Given the description of an element on the screen output the (x, y) to click on. 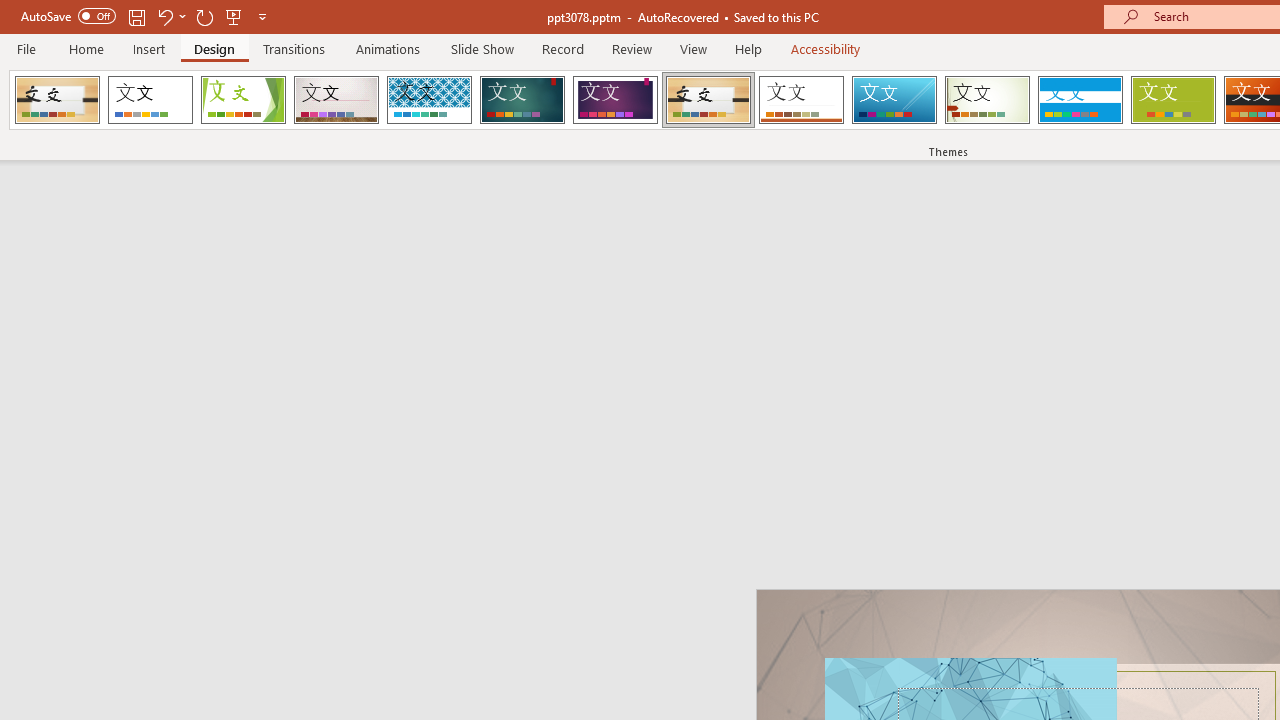
Organic (708, 100)
Basis (1172, 100)
Ion (522, 100)
Ion Boardroom (615, 100)
